Given the description of an element on the screen output the (x, y) to click on. 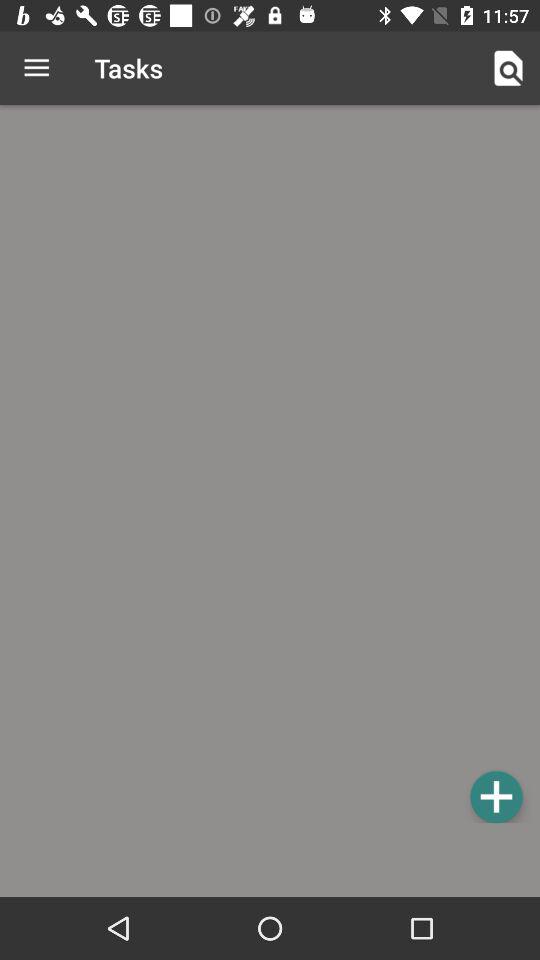
tap the icon at the top right corner (508, 67)
